Given the description of an element on the screen output the (x, y) to click on. 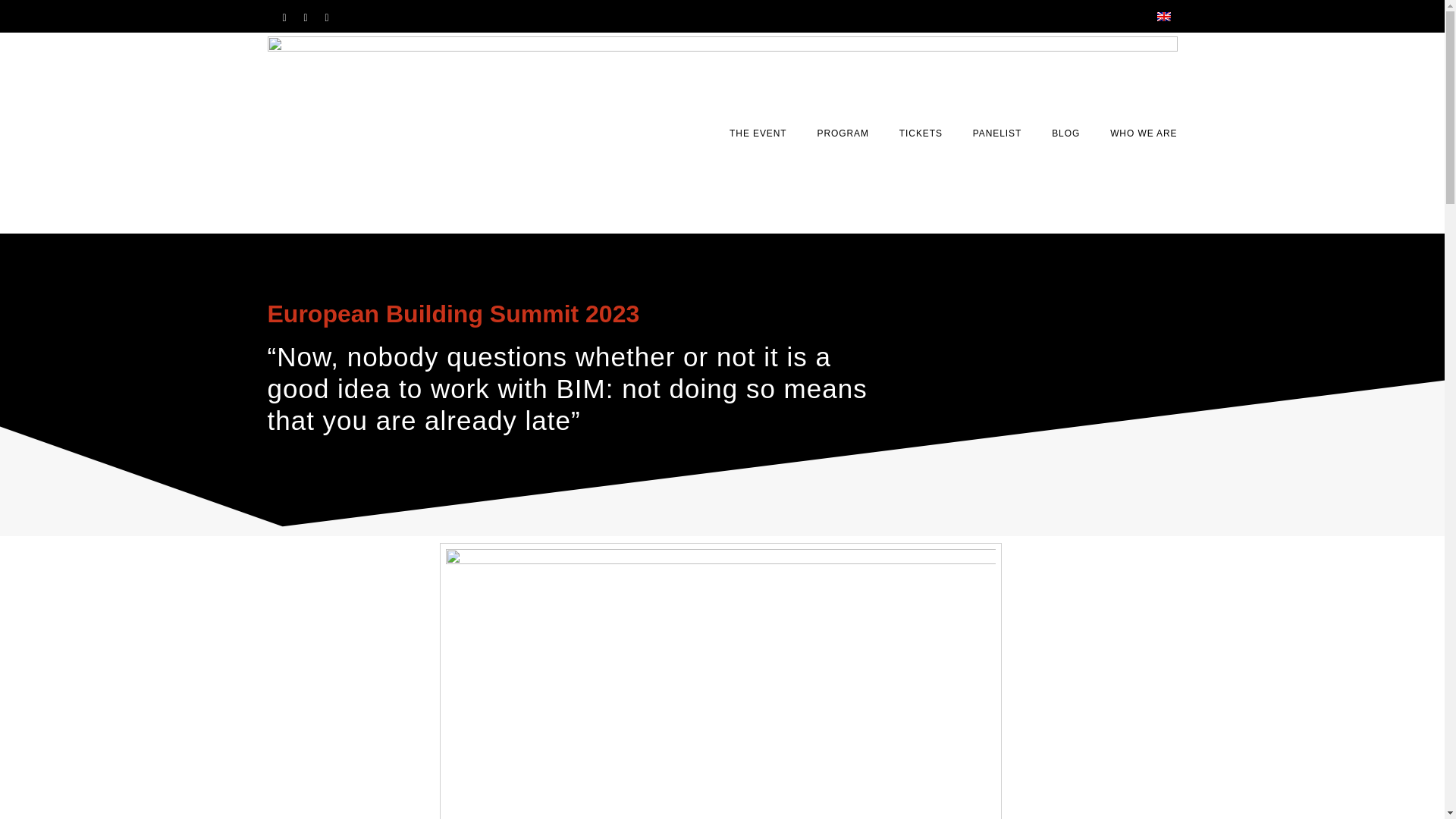
PROGRAM (842, 133)
WHO WE ARE (1142, 133)
TICKETS (920, 133)
BLOG (1065, 133)
PANELIST (997, 133)
THE EVENT (757, 133)
